Given the description of an element on the screen output the (x, y) to click on. 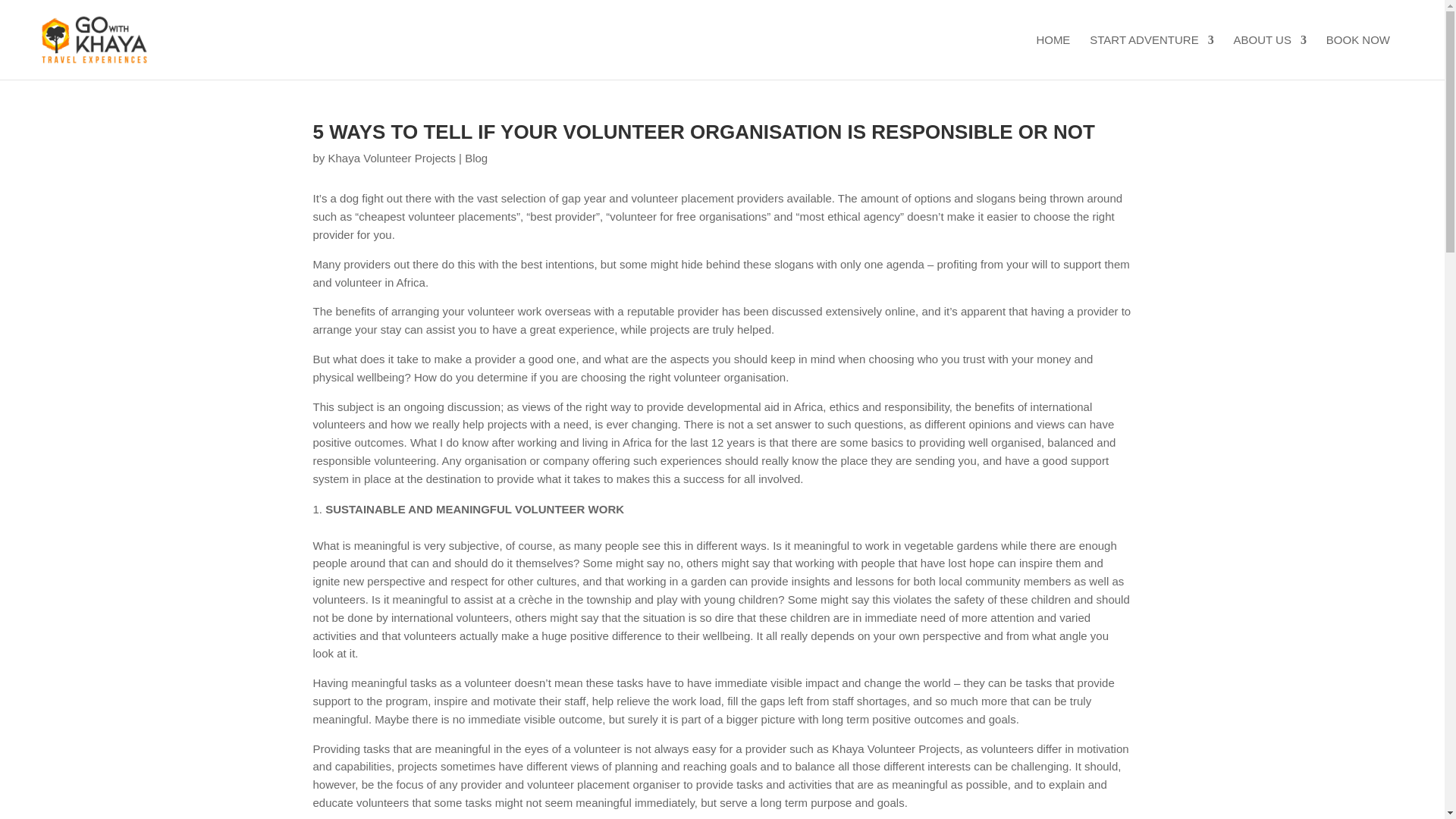
BOOK NOW (1358, 56)
Posts by Khaya Volunteer Projects (392, 157)
Blog (475, 157)
Khaya Volunteer Projects (392, 157)
ABOUT US (1269, 56)
START ADVENTURE (1150, 56)
